Given the description of an element on the screen output the (x, y) to click on. 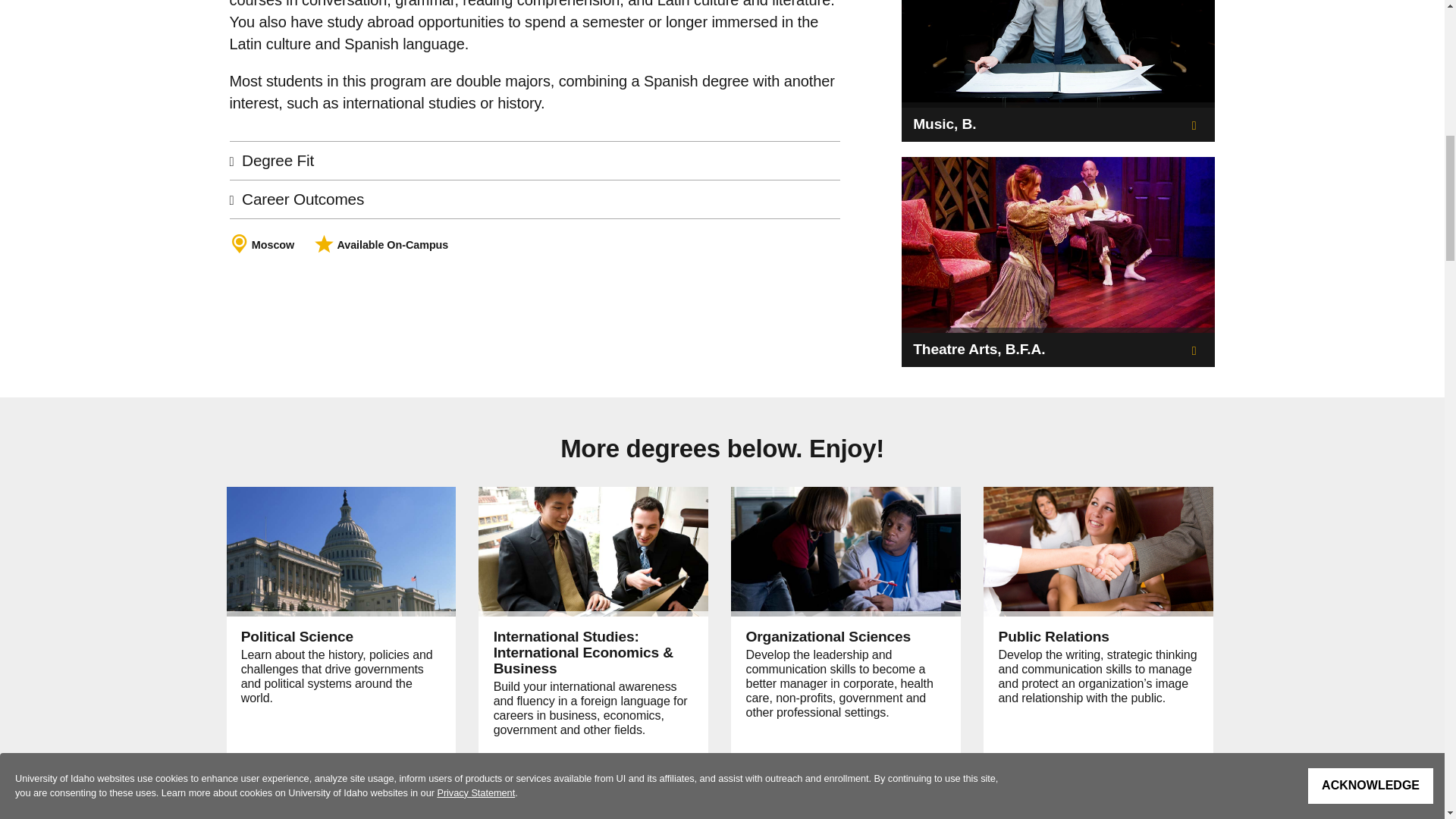
Degree Fit (534, 160)
M.A. (309, 773)
Career Outcomes (534, 199)
Ph.D. (345, 773)
Em (502, 773)
Moscow (272, 244)
B.S. (756, 773)
